Given the description of an element on the screen output the (x, y) to click on. 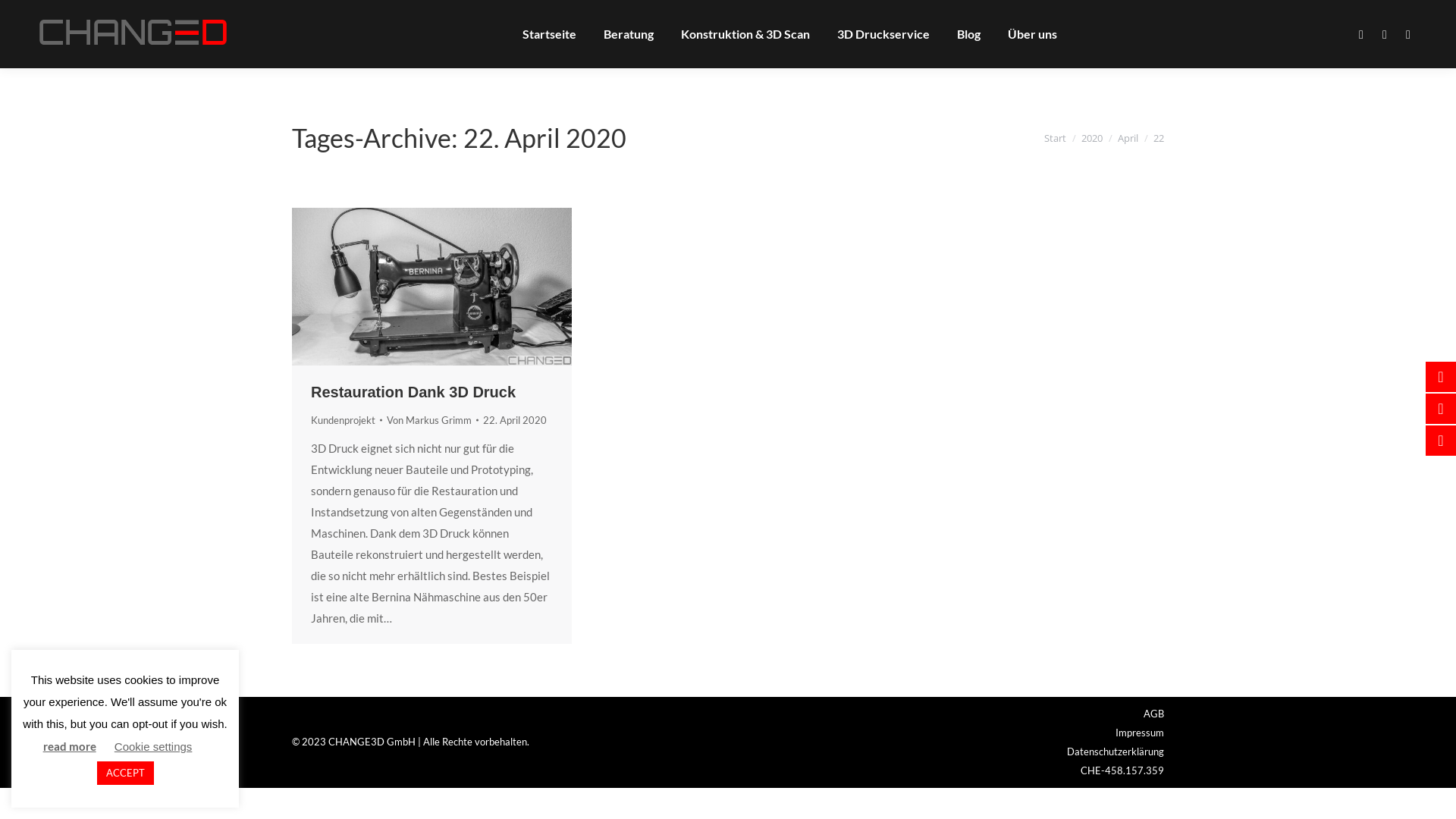
Start Element type: text (1055, 137)
Beratung Element type: text (628, 33)
Cookie settings Element type: text (153, 746)
22. April 2020 Element type: text (514, 420)
read more Element type: text (69, 746)
Linkedin page opens in new window Element type: text (1408, 34)
ACCEPT Element type: text (125, 772)
Von Markus Grimm Element type: text (432, 420)
Blog Element type: text (968, 33)
AGB Element type: text (1153, 713)
2020 Element type: text (1091, 137)
3D Druckservice Element type: text (883, 33)
Facebook page opens in new window Element type: text (1361, 34)
Startseite Element type: text (549, 33)
Kundenprojekt Element type: text (342, 420)
Bernina-2 Element type: hover (431, 286)
CHE-458.157.359 Element type: text (1122, 770)
April Element type: text (1127, 137)
Instagram page opens in new window Element type: text (1384, 34)
Restauration Dank 3D Druck Element type: text (412, 391)
Konstruktion & 3D Scan Element type: text (744, 33)
Impressum Element type: text (1139, 732)
